Given the description of an element on the screen output the (x, y) to click on. 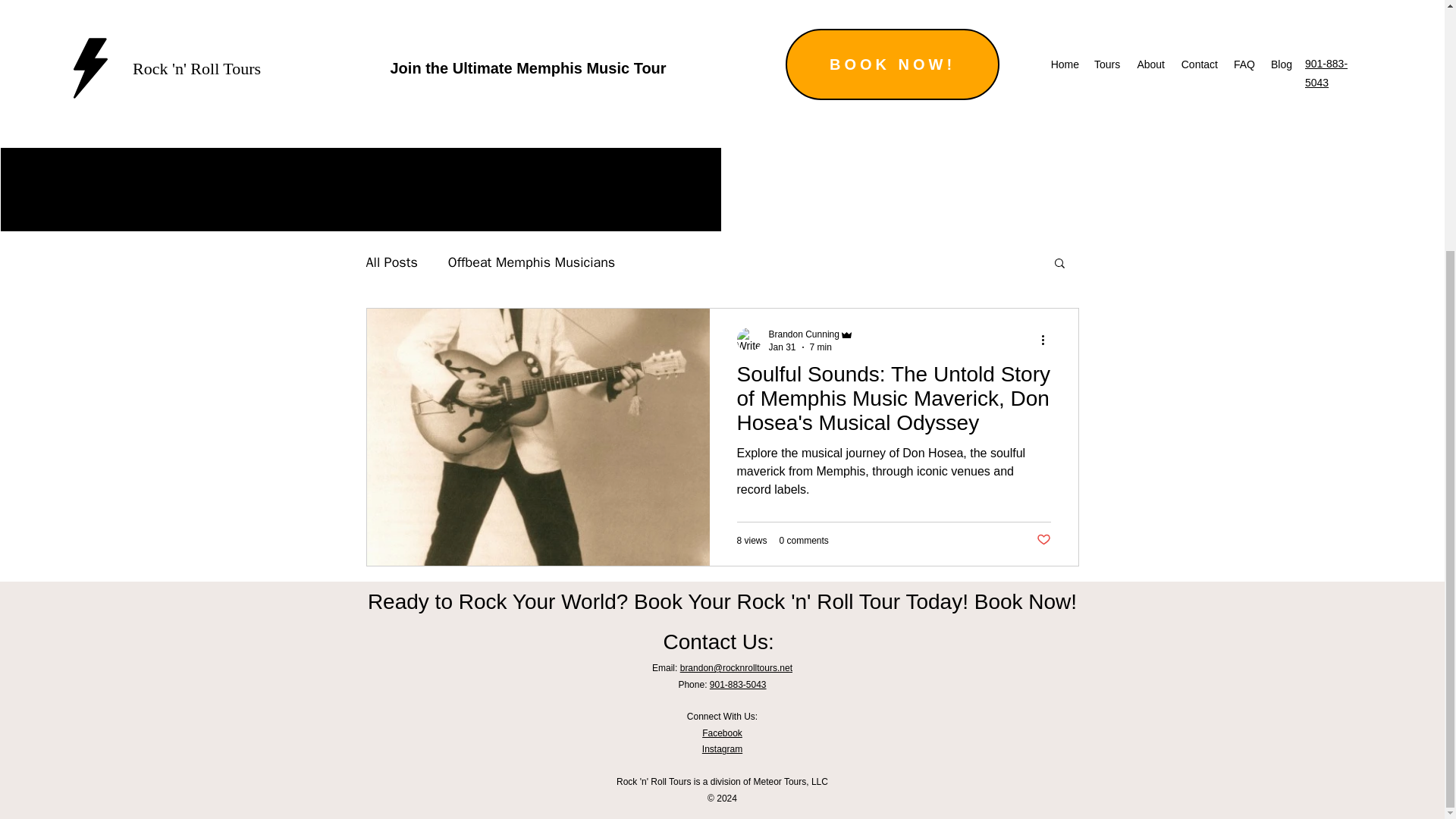
Post not marked as liked (1042, 539)
901-883-5043 (738, 684)
Brandon Cunning (804, 334)
Facebook (721, 733)
7 min (820, 347)
Jan 31 (782, 347)
Brandon Cunning (810, 334)
Instagram (721, 748)
Offbeat Memphis Musicians (531, 262)
All Posts (390, 262)
0 comments (803, 540)
